Given the description of an element on the screen output the (x, y) to click on. 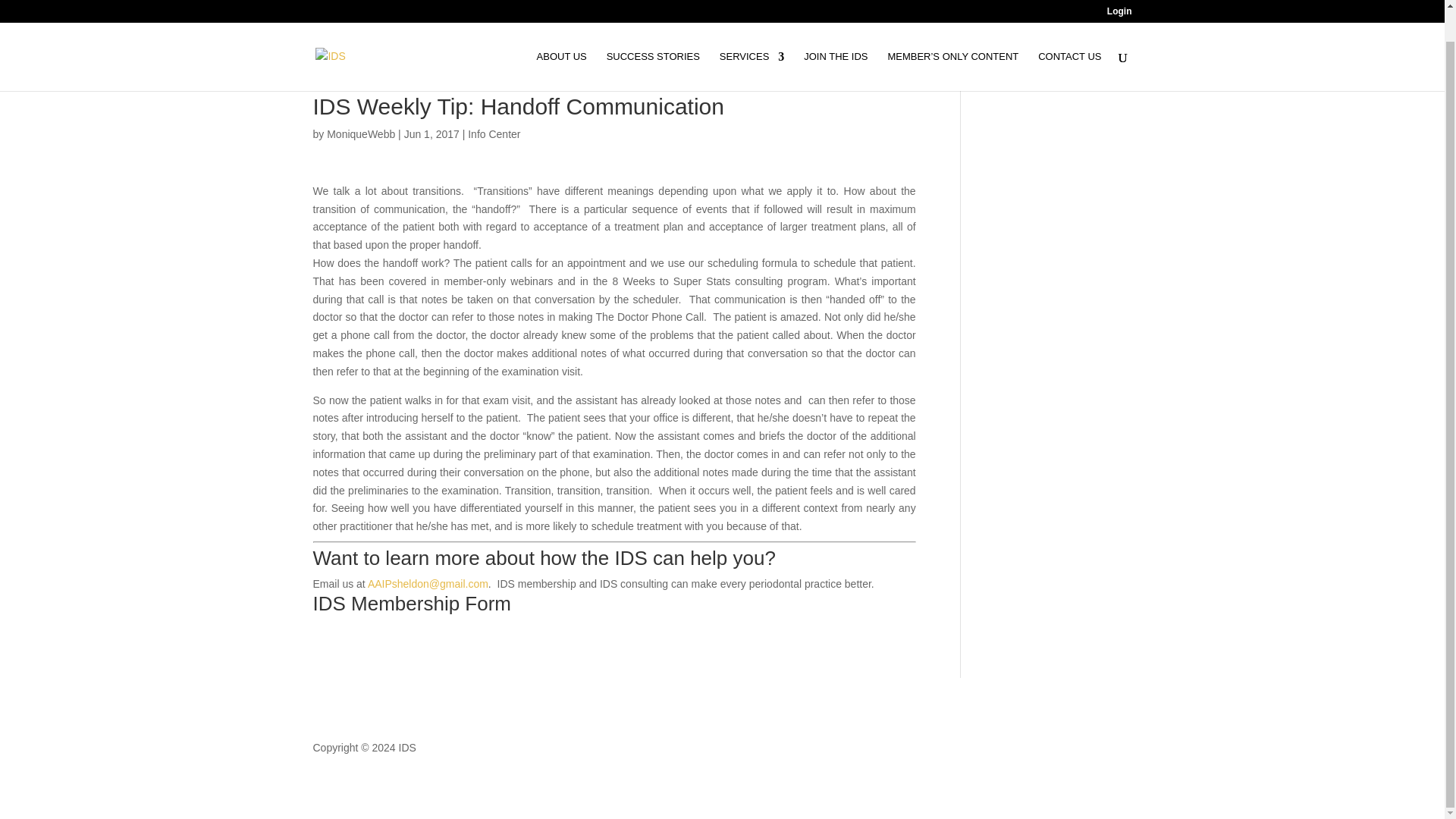
Info Center (493, 133)
JOIN THE IDS (835, 38)
SERVICES (751, 38)
ABOUT US (561, 38)
MoniqueWebb (360, 133)
Posts by MoniqueWebb (360, 133)
CONTACT US (1069, 38)
IDS Membership Form (412, 603)
SUCCESS STORIES (653, 38)
